Given the description of an element on the screen output the (x, y) to click on. 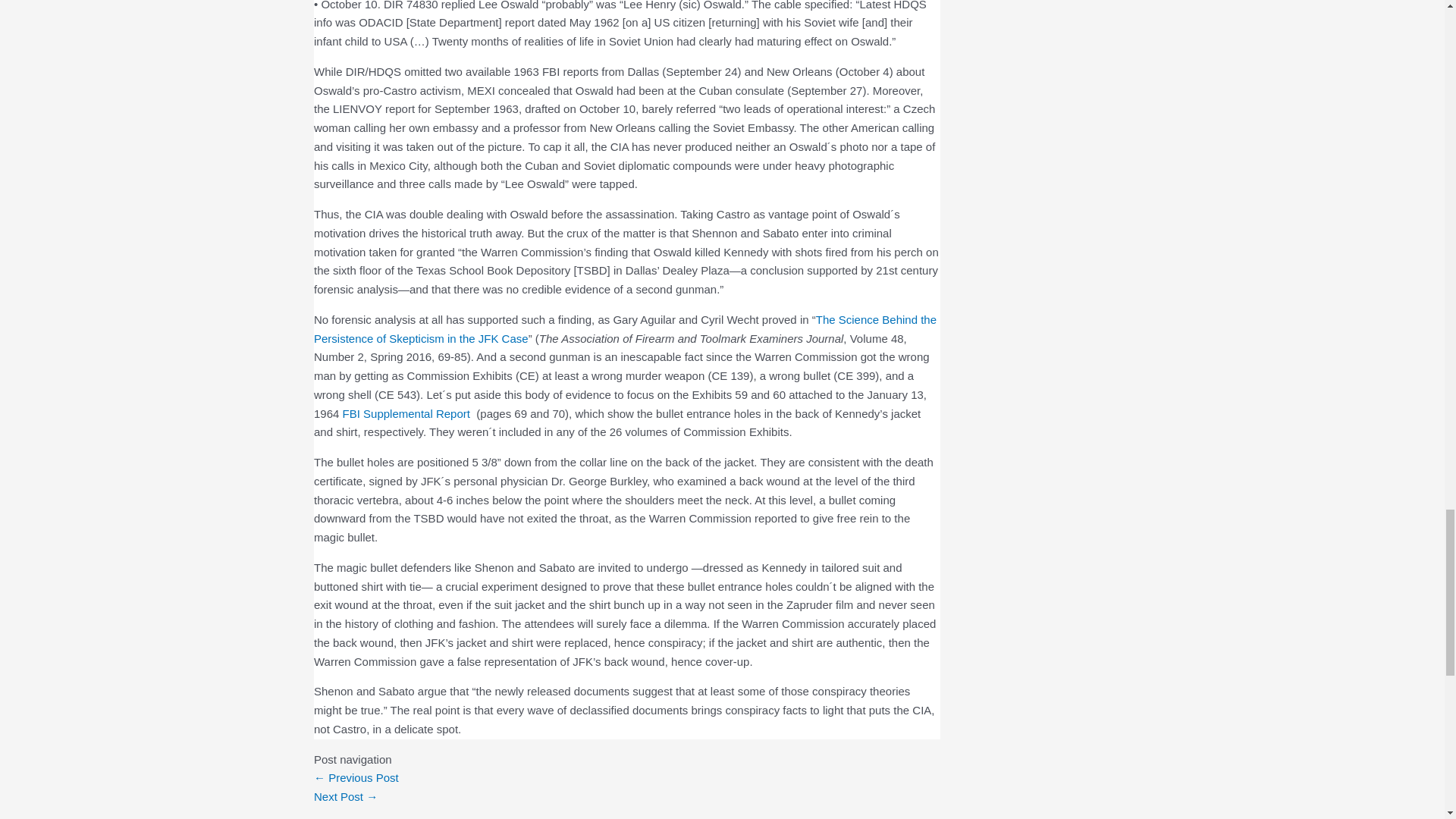
Law professor on Politico's JFK conspiracy theory (356, 777)
FBI Supplemental Report  (408, 413)
Judge backs Marquette's dismissal of McAdams (345, 796)
